Given the description of an element on the screen output the (x, y) to click on. 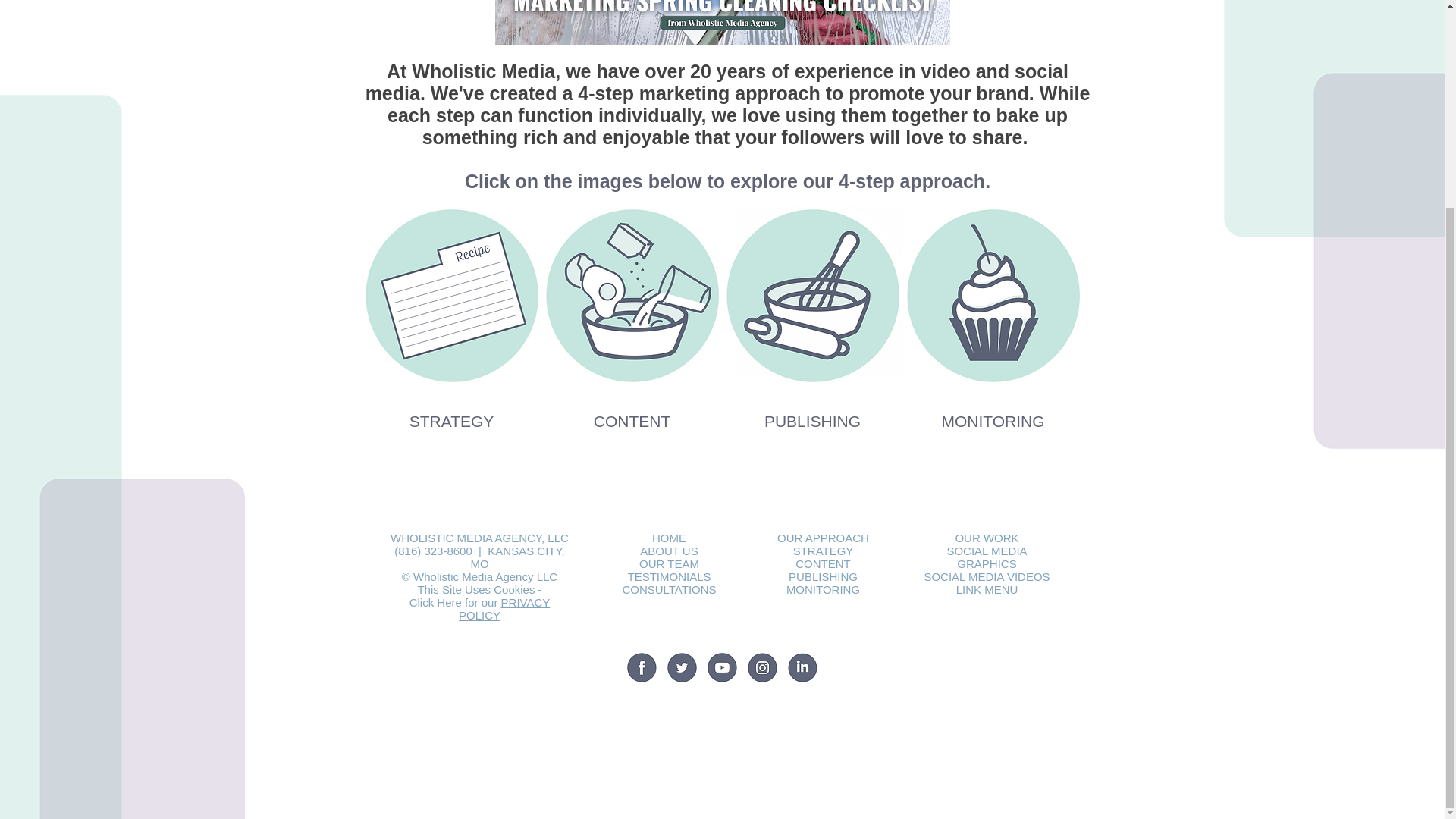
CONTENT (822, 563)
PUBLISHING (823, 576)
STRATEGY (823, 550)
OUR TEAM (668, 563)
CONSULTATIONS (668, 589)
OUR APPROACH (823, 537)
HOME (668, 537)
PRIVACY POLICY (504, 608)
TESTIMONIALS (668, 576)
